Given the description of an element on the screen output the (x, y) to click on. 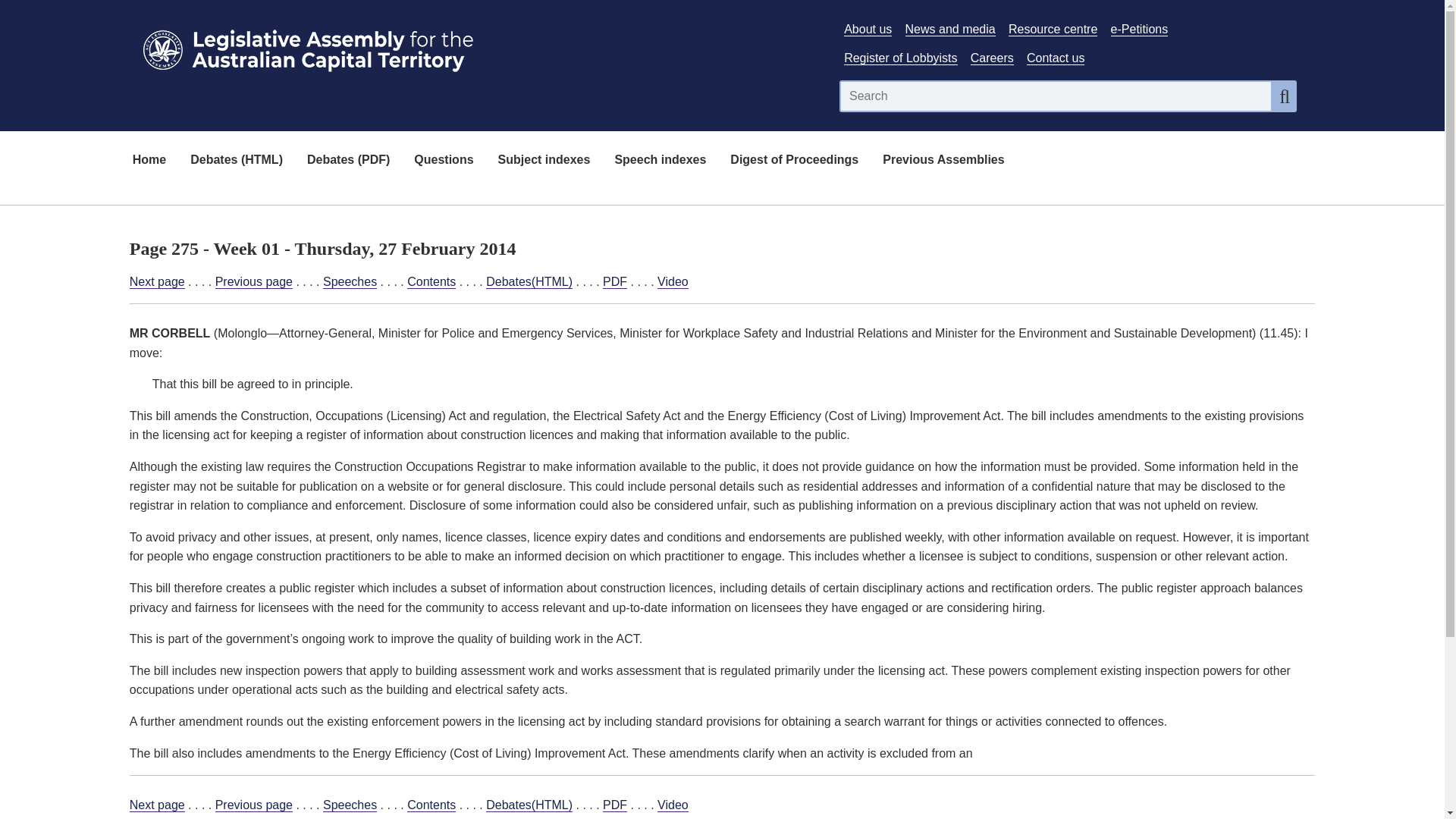
Link to News and media (950, 29)
Video (673, 282)
Contents (431, 805)
PDF (614, 282)
Careers (992, 58)
Link to Register of Lobbyists (900, 58)
Link to Resource centre (1053, 29)
Previous page (253, 282)
Digest of Proceedings (793, 160)
Previous Assemblies (943, 160)
Speeches (350, 282)
Link to Homepage (475, 46)
Previous page (253, 805)
Speeches (350, 805)
PDF (614, 805)
